Given the description of an element on the screen output the (x, y) to click on. 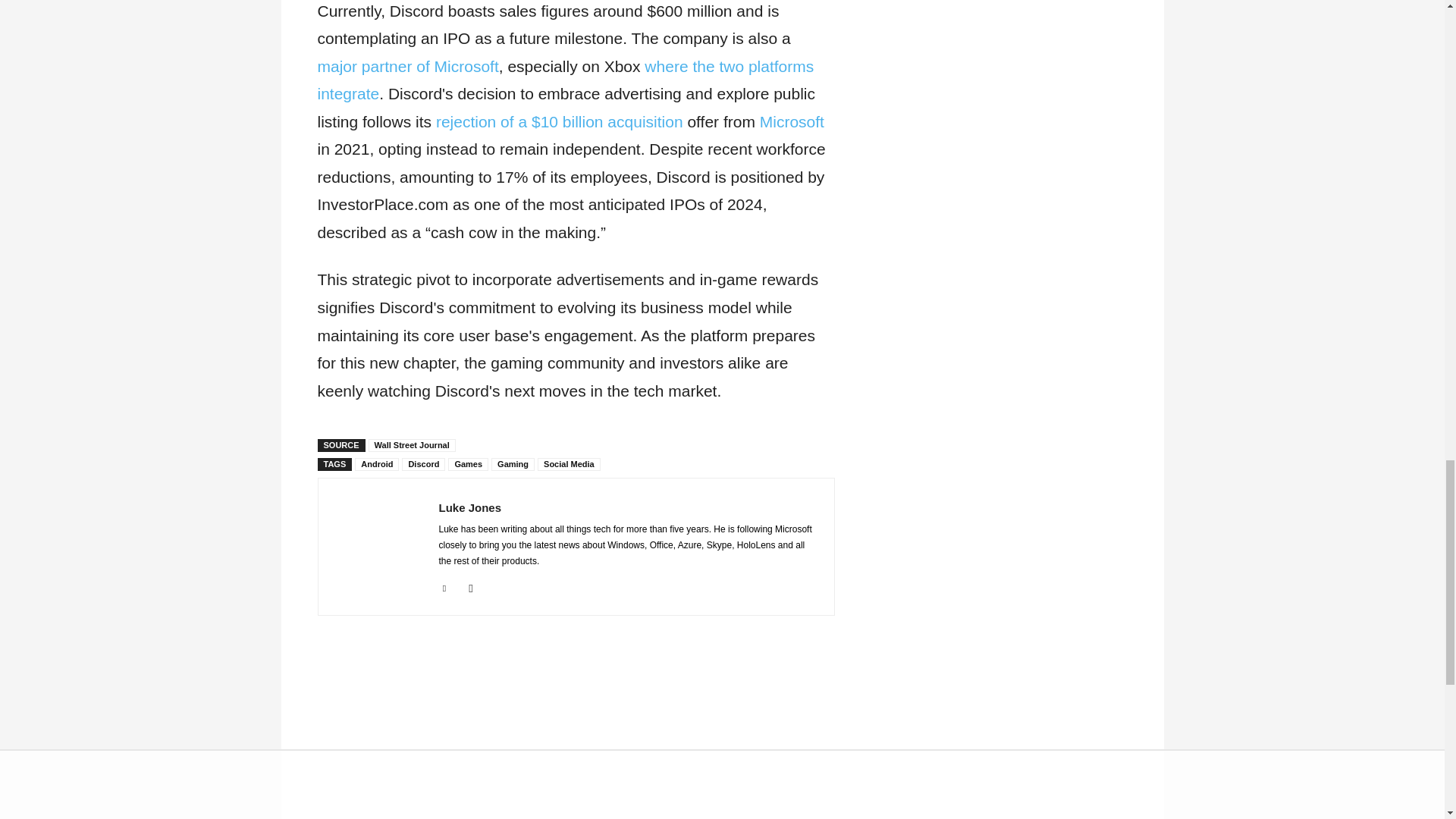
Mail (471, 585)
Posts tagged with Microsoft (792, 121)
Linkedin (443, 585)
